Given the description of an element on the screen output the (x, y) to click on. 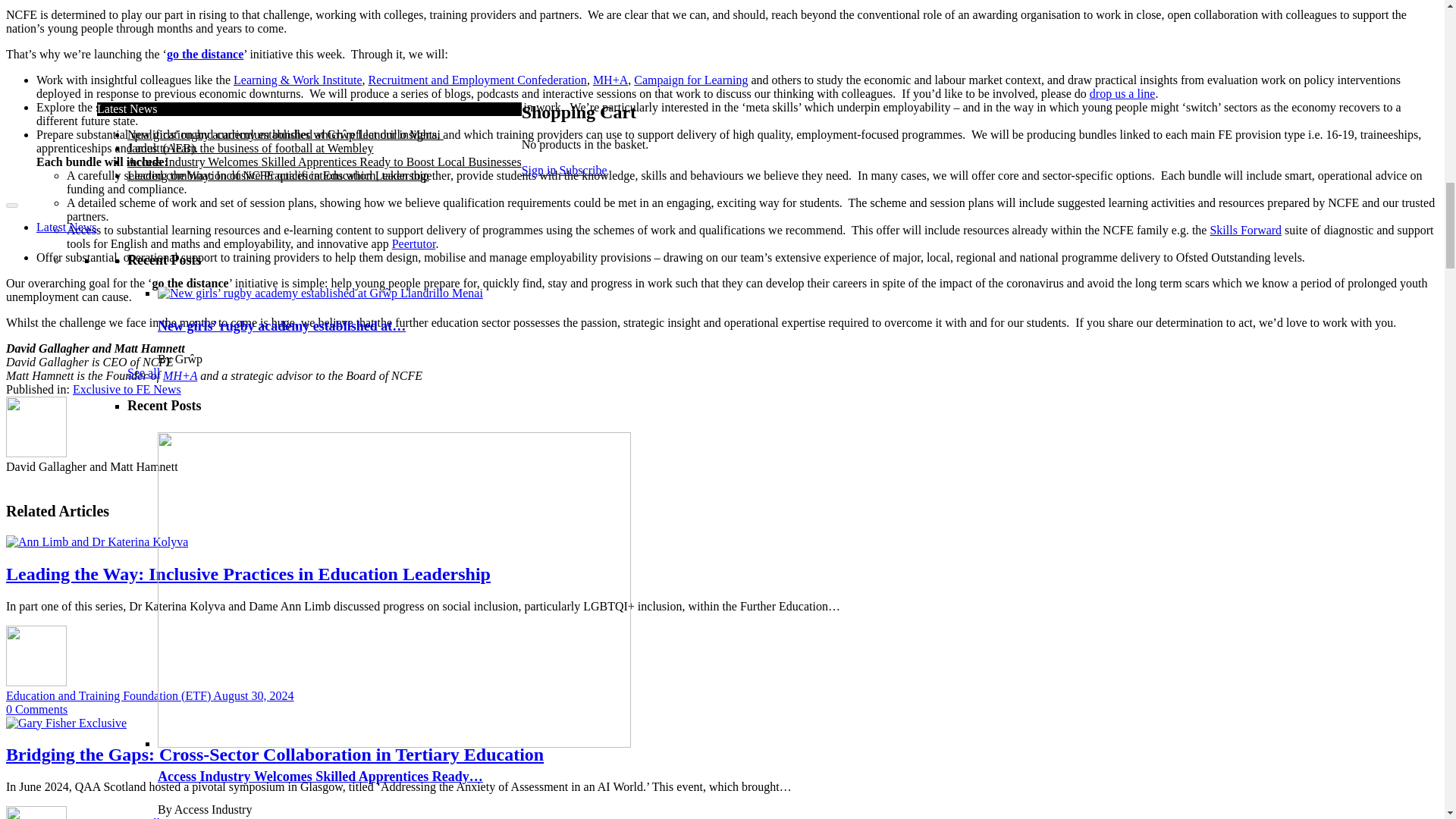
See all (144, 67)
See all (144, 212)
